Given the description of an element on the screen output the (x, y) to click on. 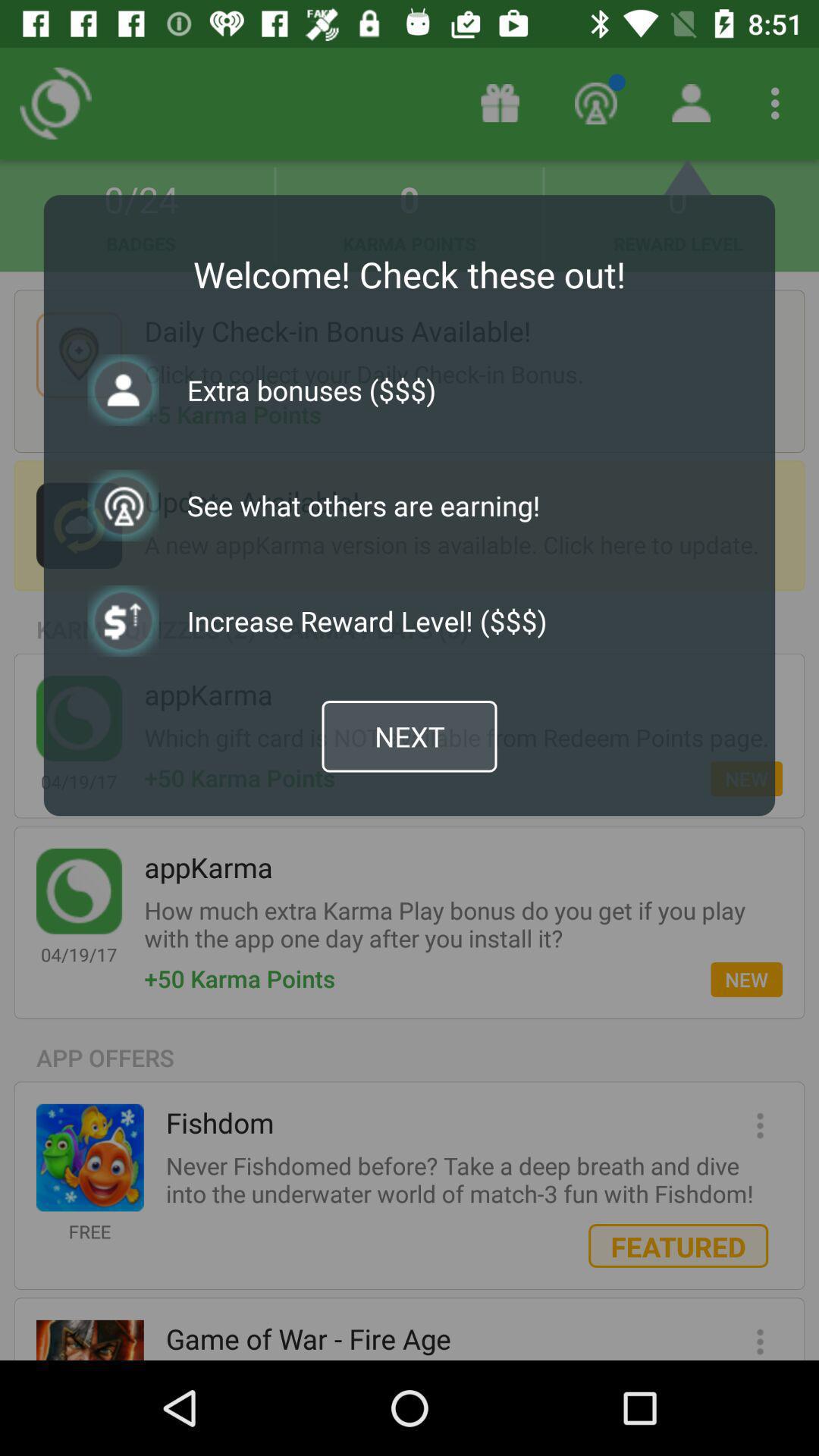
flip until next (409, 736)
